Given the description of an element on the screen output the (x, y) to click on. 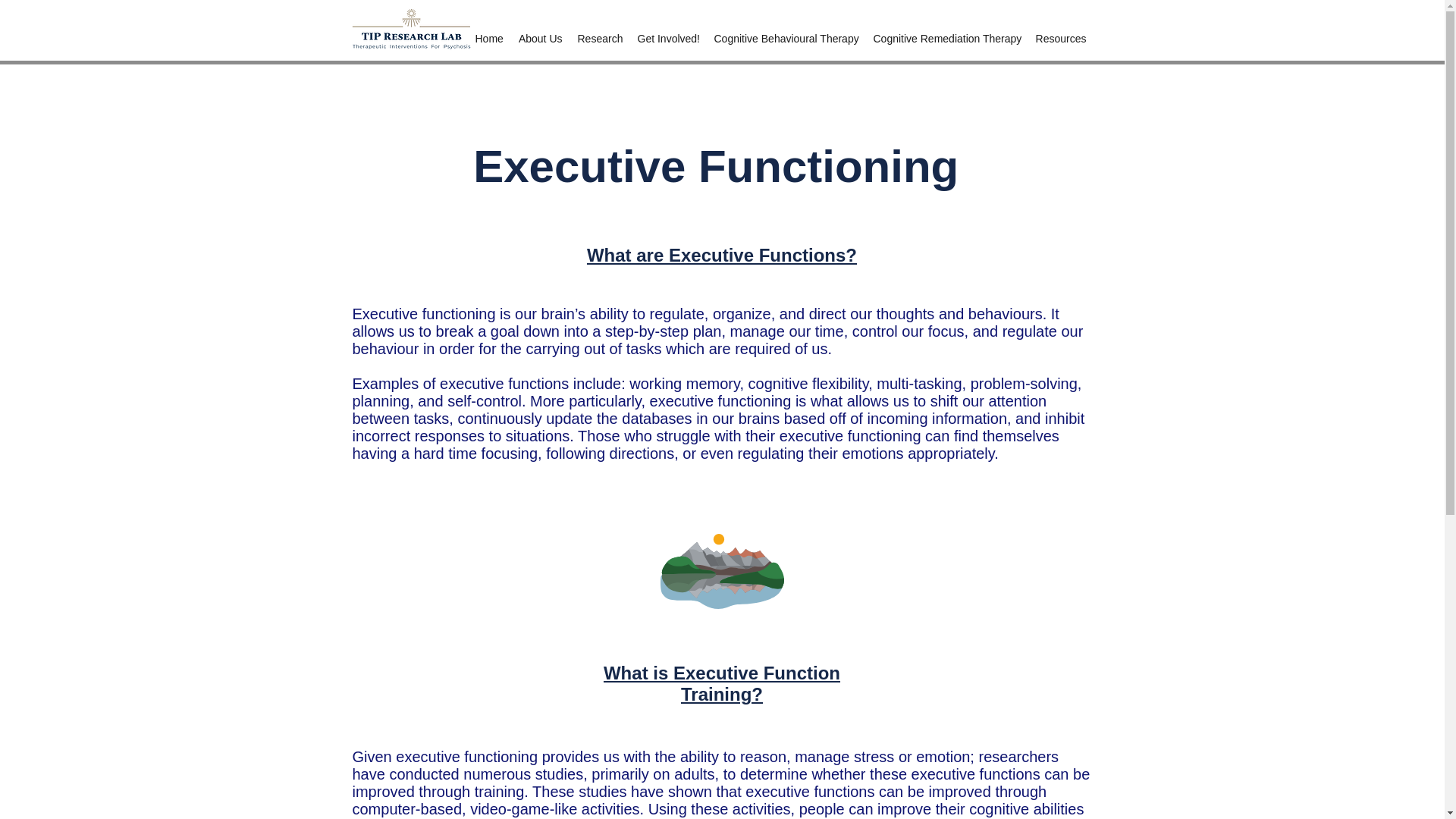
Home (489, 38)
